Given the description of an element on the screen output the (x, y) to click on. 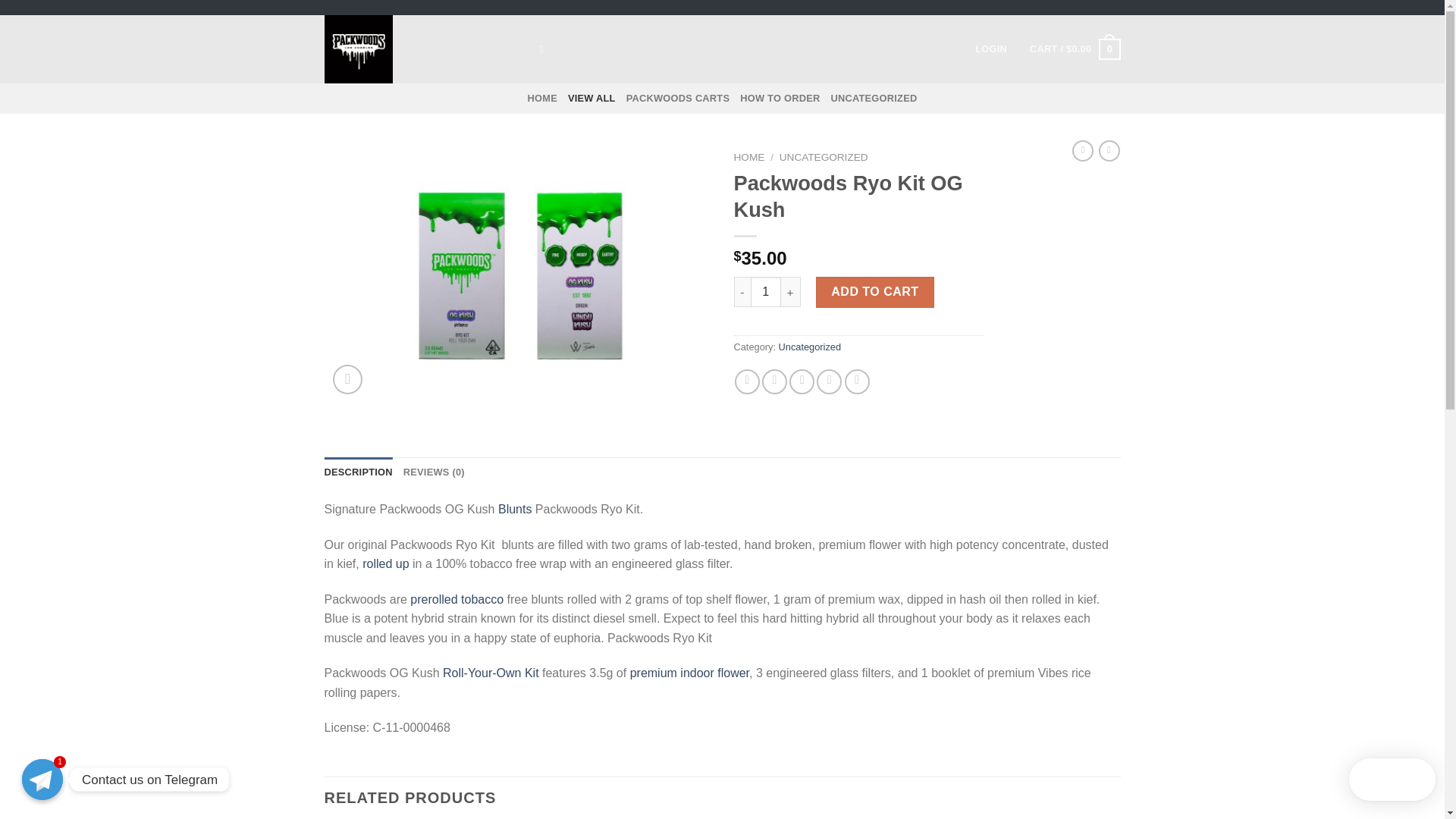
Cart (1074, 48)
rolled up (385, 563)
UNCATEGORIZED (873, 98)
HOME (542, 98)
ADD TO CART (874, 291)
prerolled tobacco (456, 599)
Blunts (514, 508)
1 (765, 291)
LOGIN (991, 49)
UNCATEGORIZED (822, 156)
HOW TO ORDER (779, 98)
DESCRIPTION (358, 472)
3 (517, 273)
Smartsupp widget button (1392, 779)
HOME (749, 156)
